Given the description of an element on the screen output the (x, y) to click on. 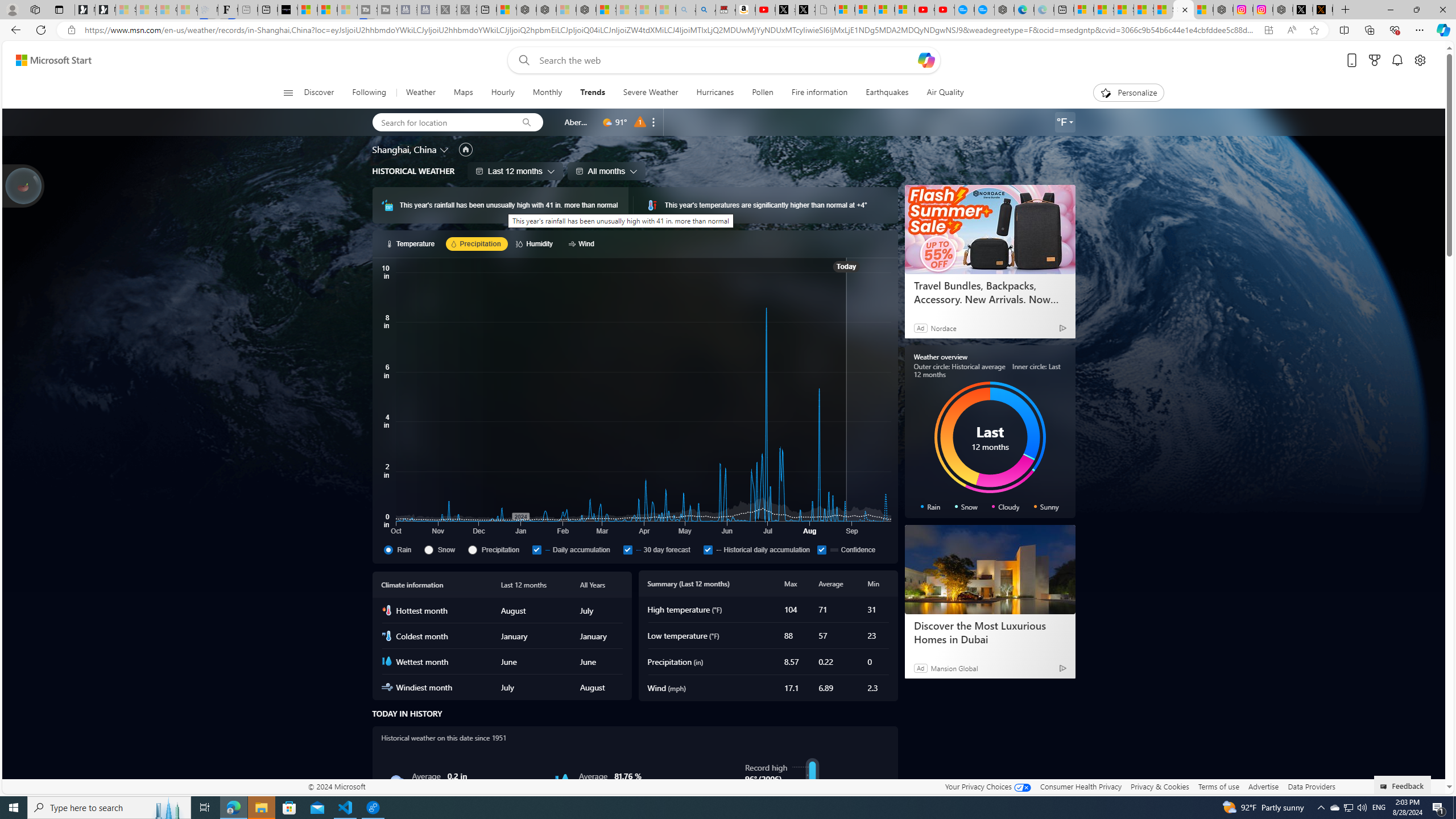
Change location (445, 149)
Rain (387, 549)
Daily accumulation (574, 549)
Your Privacy Choices (987, 785)
Fire information (819, 92)
Set as primary location (465, 149)
